Given the description of an element on the screen output the (x, y) to click on. 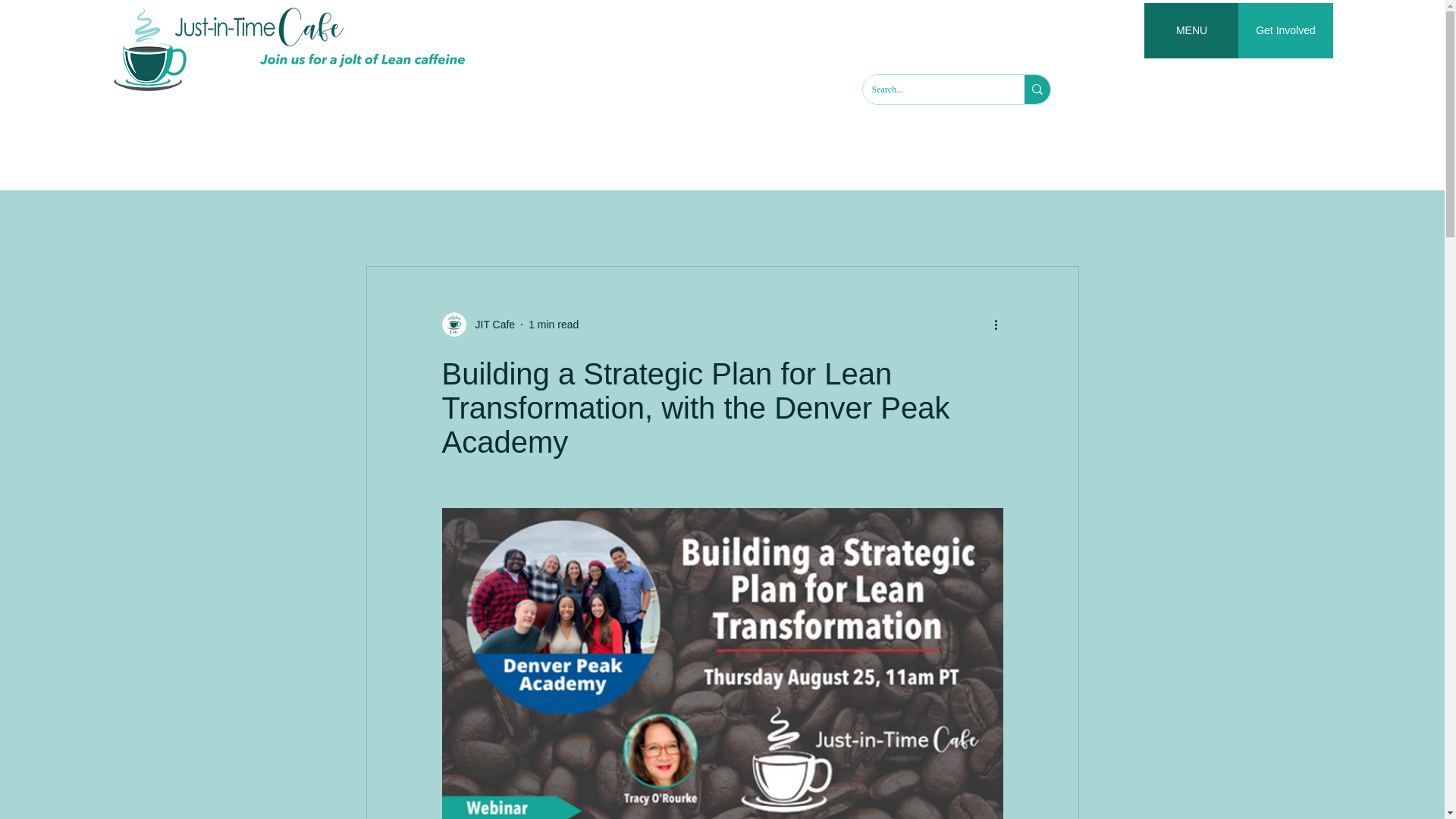
1 min read (553, 324)
JIT Cafe (478, 324)
JIT Cafe (490, 324)
Get Involved (1286, 30)
